Given the description of an element on the screen output the (x, y) to click on. 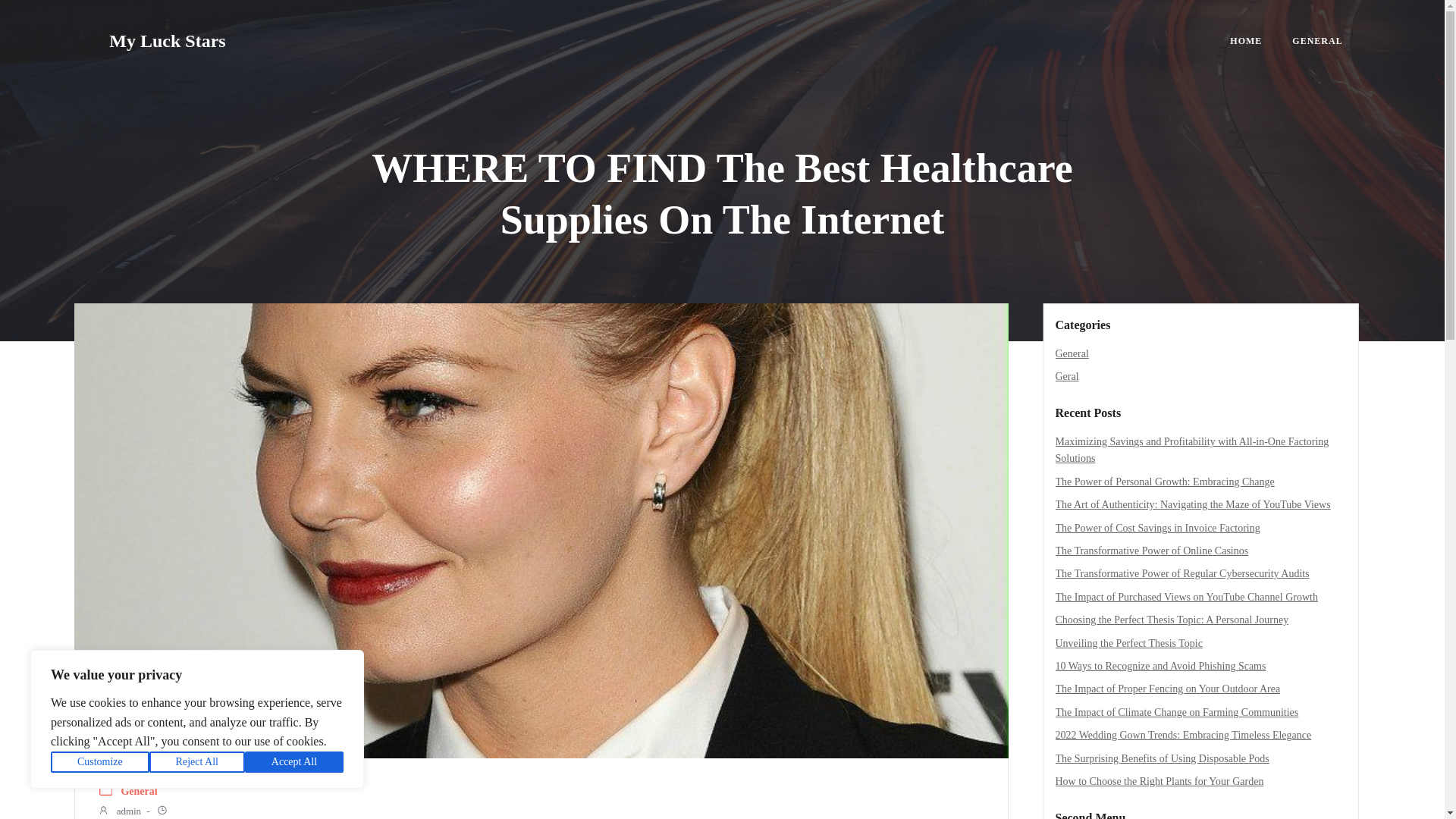
Geral (1066, 376)
The Joy of Bounce Houses: Elevating Your Party Experience (1184, 464)
Customize (99, 762)
General (1072, 353)
Reject All (196, 762)
GENERAL (1317, 40)
Unleashing Potential: My Journey as an Amazon Investor (1177, 441)
HOME (1246, 40)
My Luck Stars (167, 40)
